Given the description of an element on the screen output the (x, y) to click on. 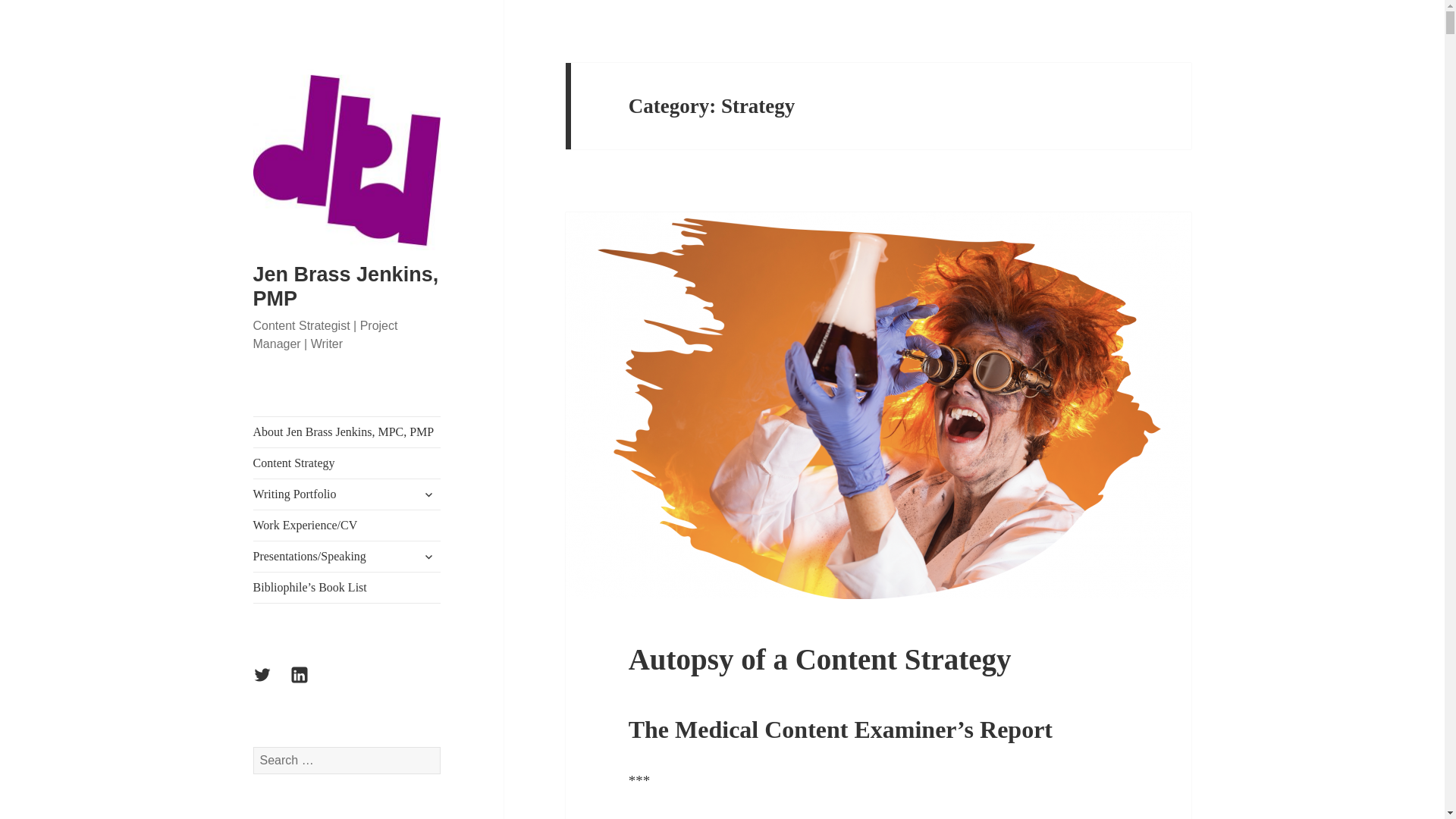
Autopsy of a Content Strategy (819, 658)
Twitter (271, 683)
Jen Brass Jenkins, PMP (346, 286)
expand child menu (428, 556)
Writing Portfolio (347, 494)
LinkedIn (307, 683)
About Jen Brass Jenkins, MPC, PMP (347, 431)
Content Strategy (347, 462)
expand child menu (428, 494)
